Given the description of an element on the screen output the (x, y) to click on. 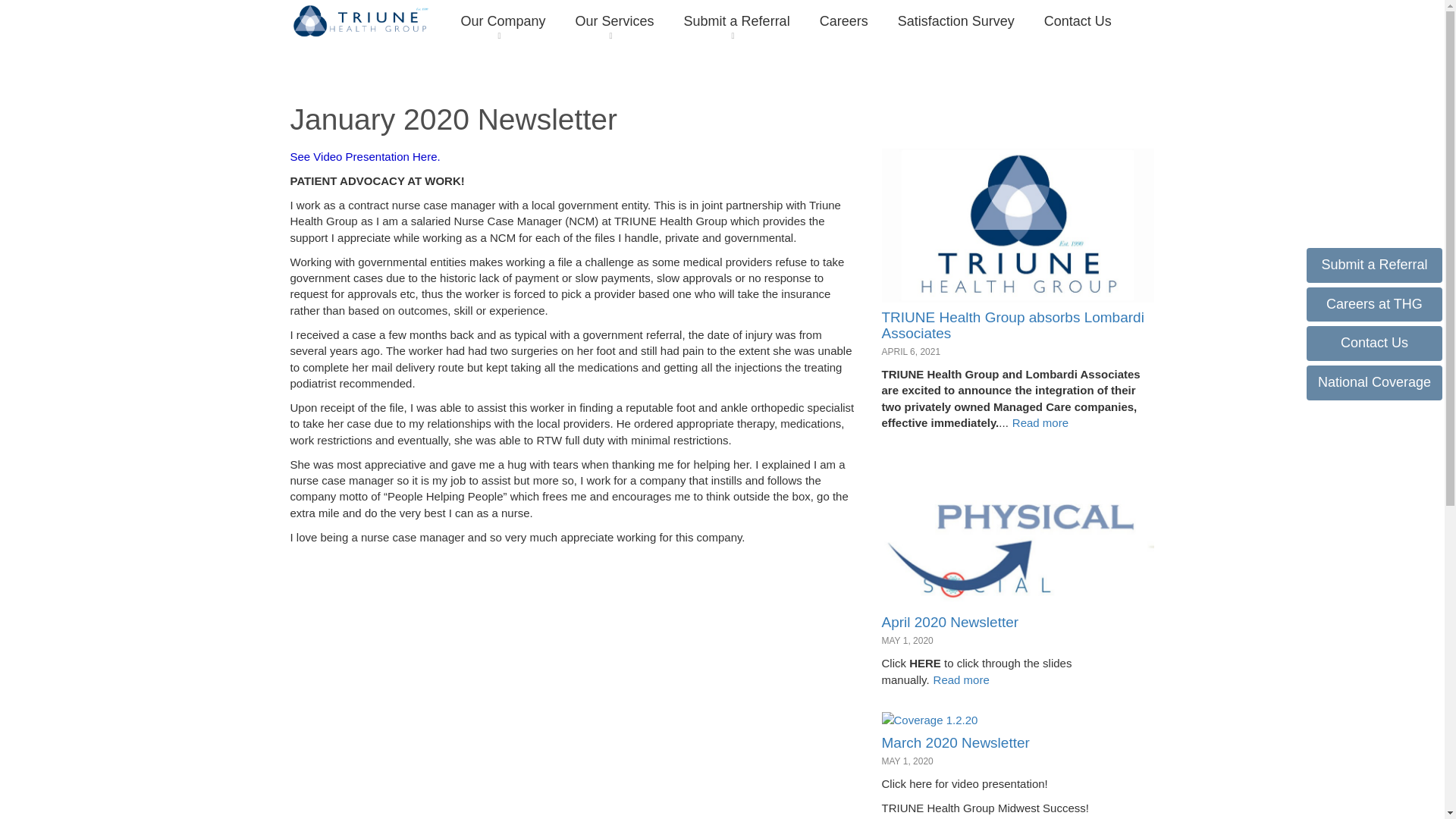
March 2020 Newsletter (954, 742)
April 2020 Newsletter (948, 621)
Our Services (614, 21)
Read more (1039, 422)
Our Company (502, 21)
Submit a Referral (736, 21)
Home (361, 20)
Contact Us (1077, 21)
TRIUNE Health Group absorbs Lombardi Associates (1011, 325)
